Given the description of an element on the screen output the (x, y) to click on. 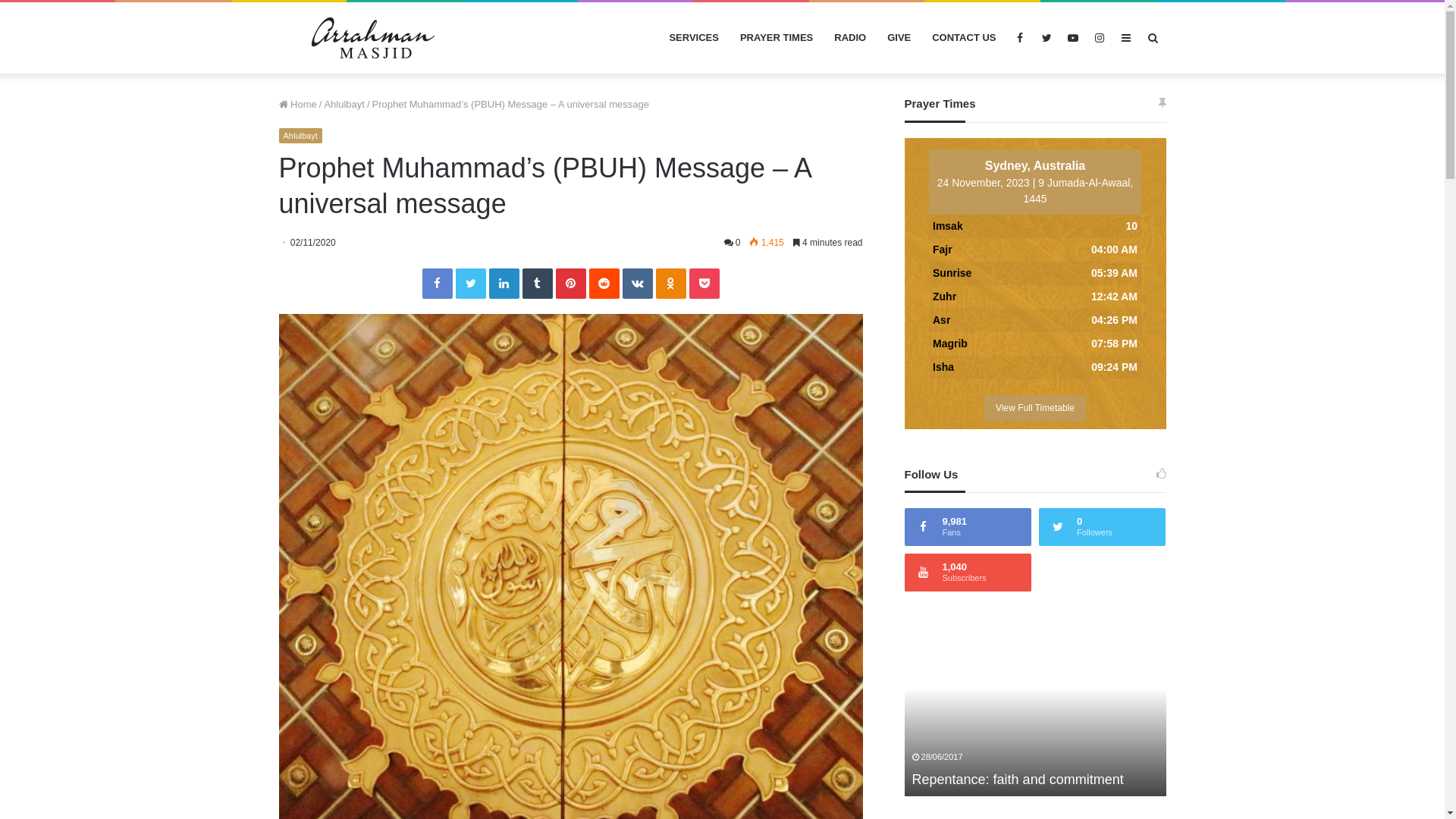
Reddit Element type: text (603, 283)
RADIO Element type: text (849, 37)
LinkedIn Element type: text (503, 283)
VKontakte Element type: text (636, 283)
Search for Element type: text (1152, 37)
Odnoklassniki Element type: text (670, 283)
SERVICES Element type: text (693, 37)
Home Element type: text (297, 103)
PRAYER TIMES Element type: text (776, 37)
1,040
Subscribers Element type: text (967, 572)
Sidebar Element type: text (1126, 37)
Pinterest Element type: text (570, 283)
Pocket Element type: text (703, 283)
Instagram Element type: text (1098, 37)
Ahlulbayt Element type: text (343, 103)
View Full Timetable Element type: text (1034, 407)
Twitter Element type: text (1045, 37)
Ahlulbayt Element type: text (300, 135)
Parents in their interaction with their children Element type: hover (792, 712)
GIVE Element type: text (898, 37)
YouTube Element type: text (1073, 37)
Facebook Element type: text (1020, 37)
Parents in their interaction with their children Element type: text (1035, 712)
Tumblr Element type: text (536, 283)
CONTACT US Element type: text (963, 37)
Facebook Element type: text (436, 283)
9,981
Fans Element type: text (967, 527)
Repentance: faith and commitment Element type: text (1296, 712)
Masjid Arrahman Element type: hover (373, 37)
0
Followers Element type: text (1101, 527)
Twitter Element type: text (470, 283)
Parents in their interaction with their children Element type: text (1020, 769)
